Given the description of an element on the screen output the (x, y) to click on. 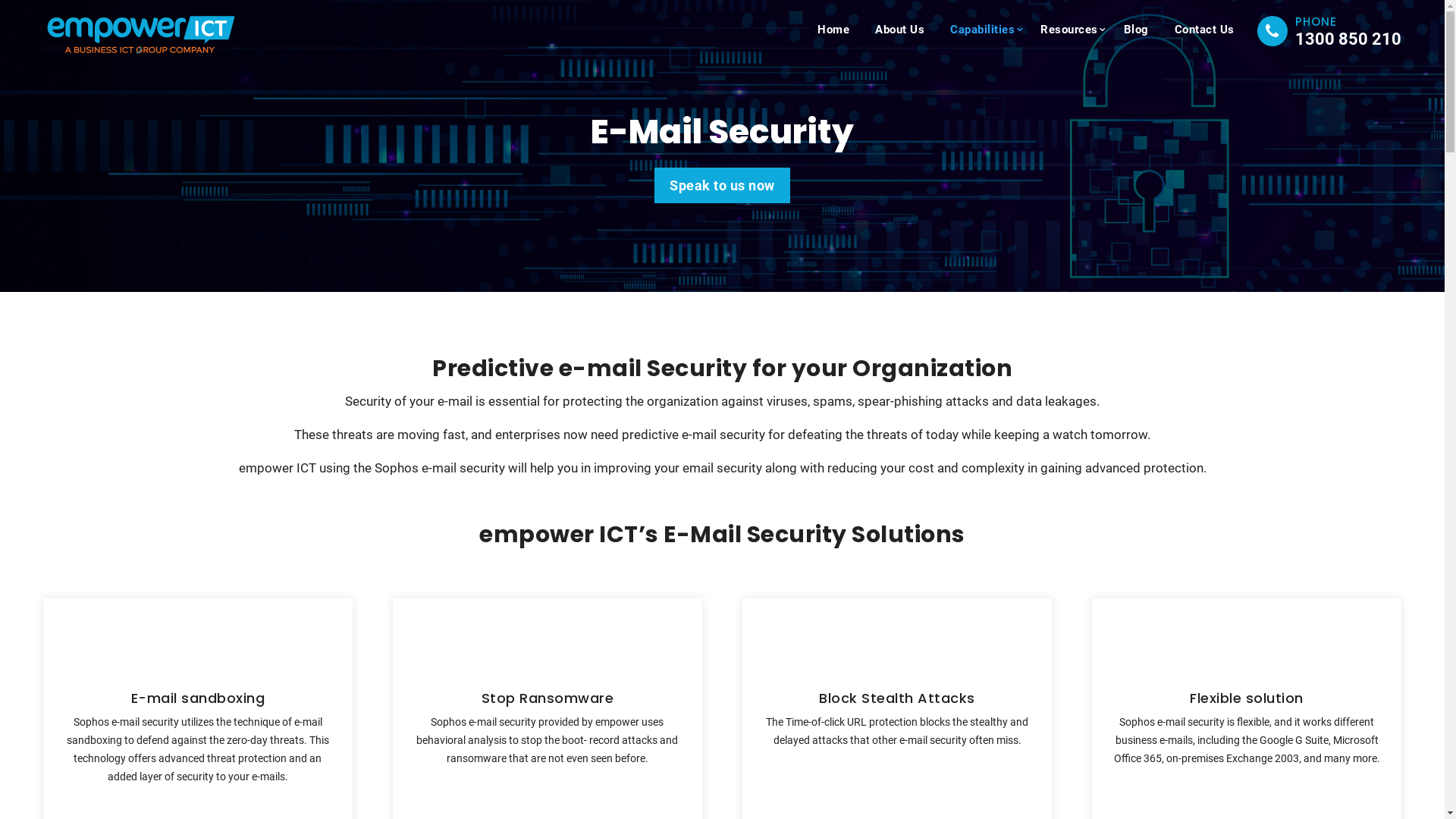
1300 850 210 Element type: text (1348, 38)
Contact Us Element type: text (1204, 30)
Blog Element type: text (1136, 30)
Resources Element type: text (1068, 30)
Speak to us now Element type: text (722, 185)
Home Element type: text (832, 30)
Capabilities Element type: text (982, 30)
About Us Element type: text (899, 30)
